Given the description of an element on the screen output the (x, y) to click on. 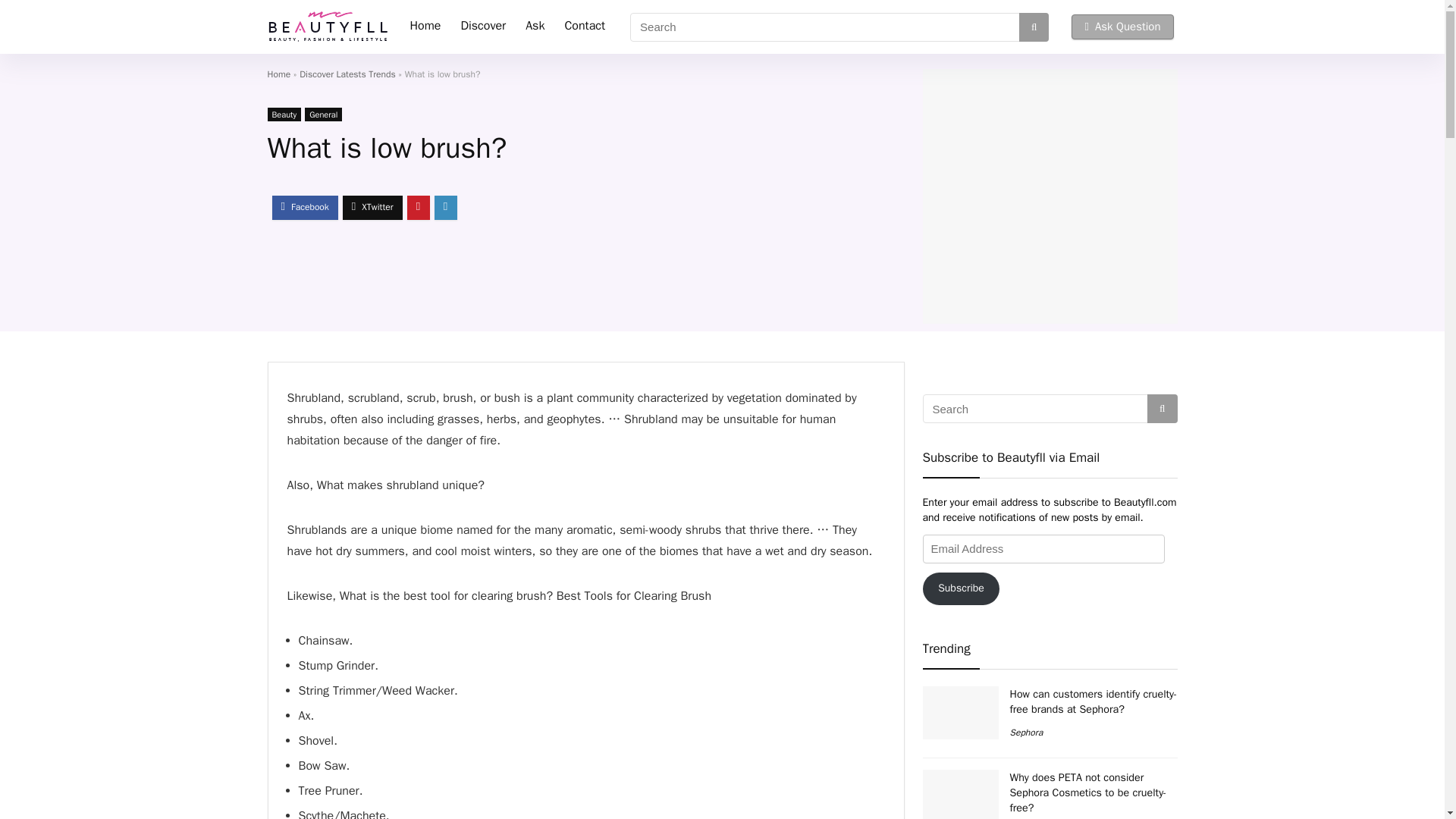
Contact (584, 26)
Ask (534, 26)
Discover (482, 26)
Subscribe (959, 588)
Discover Latests Trends (347, 73)
Home (277, 73)
How can customers identify cruelty-free brands at Sephora? (1093, 701)
Home (425, 26)
View all posts in Beauty (283, 114)
Ask Question (1122, 26)
Beauty (283, 114)
View all posts in General (323, 114)
Sephora (1026, 732)
General (323, 114)
